Given the description of an element on the screen output the (x, y) to click on. 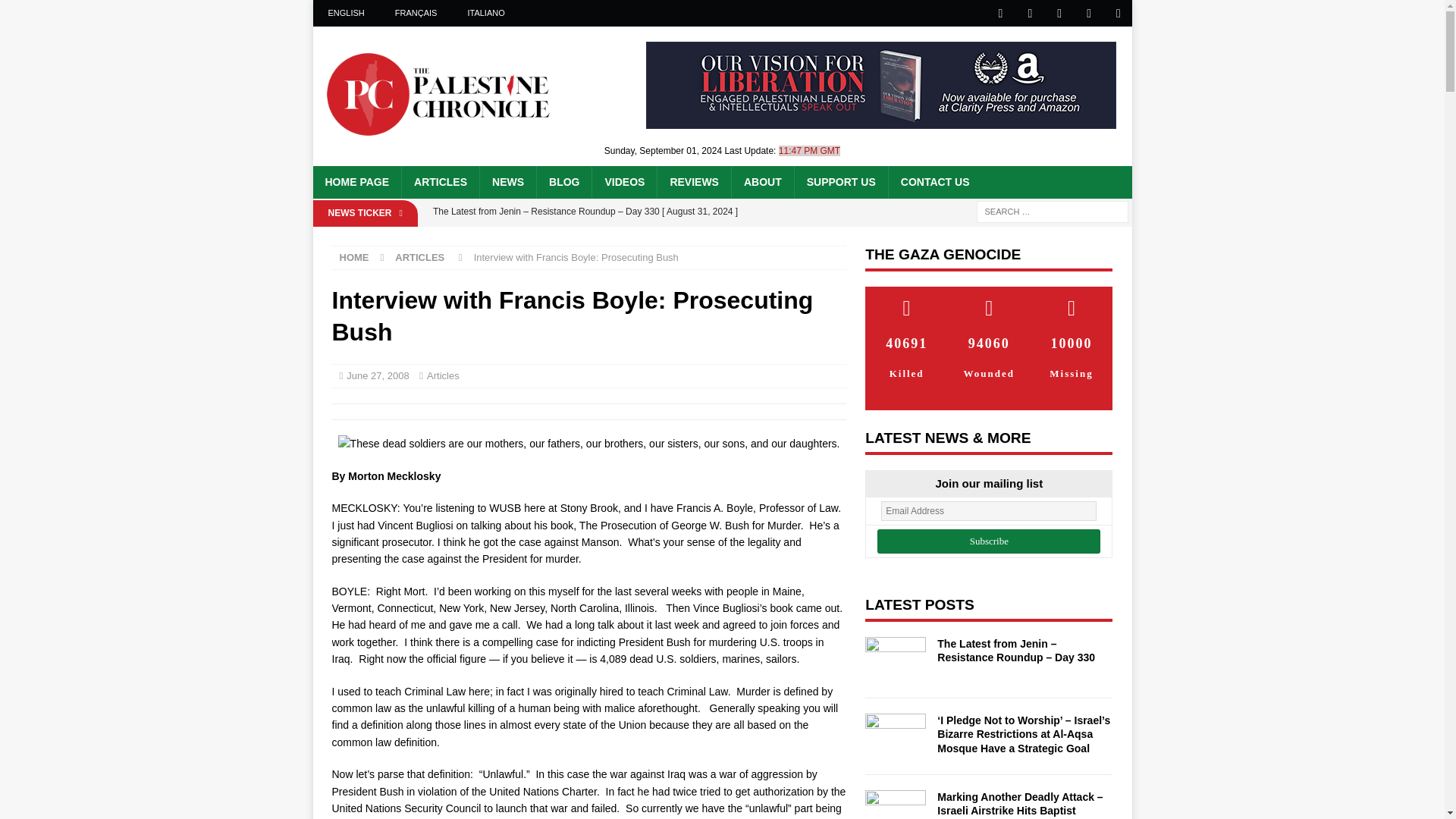
HOME PAGE (357, 182)
Search (56, 11)
ARTICLES (440, 182)
NEWS (507, 182)
BLOG (563, 182)
June 27, 2008 (377, 375)
ITALIANO (485, 13)
SUPPORT US (840, 182)
Subscribe (988, 541)
REVIEWS (693, 182)
